Given the description of an element on the screen output the (x, y) to click on. 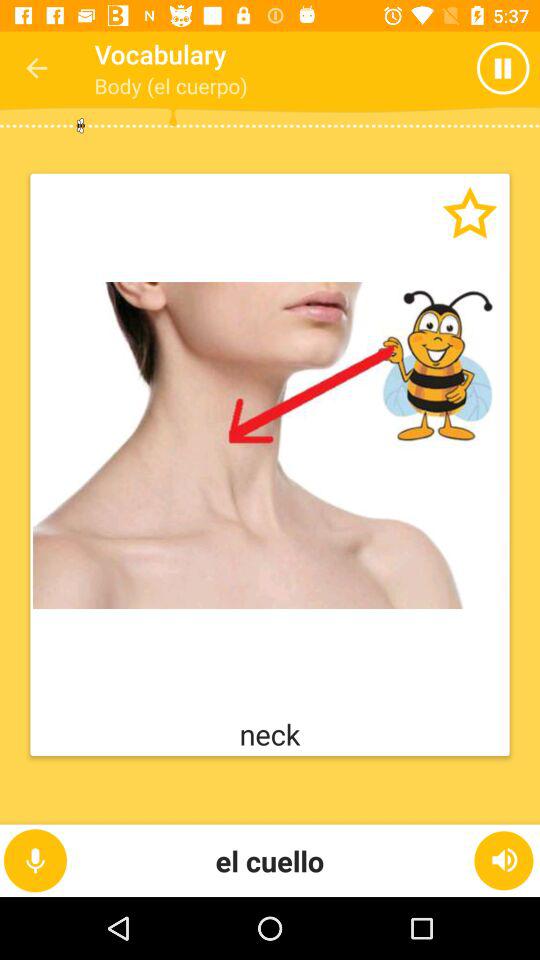
choose the icon above the neck icon (451, 229)
